Given the description of an element on the screen output the (x, y) to click on. 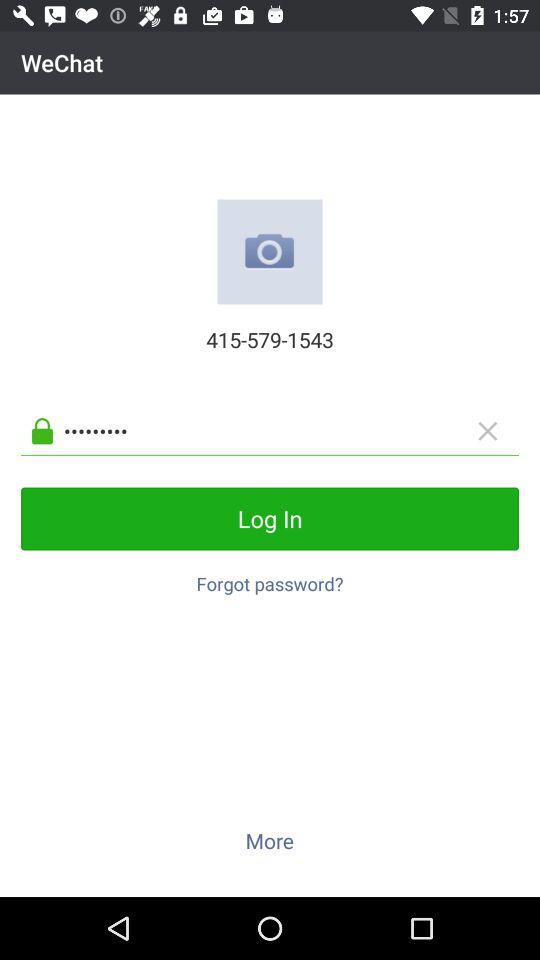
jump until the log in button (270, 518)
